Given the description of an element on the screen output the (x, y) to click on. 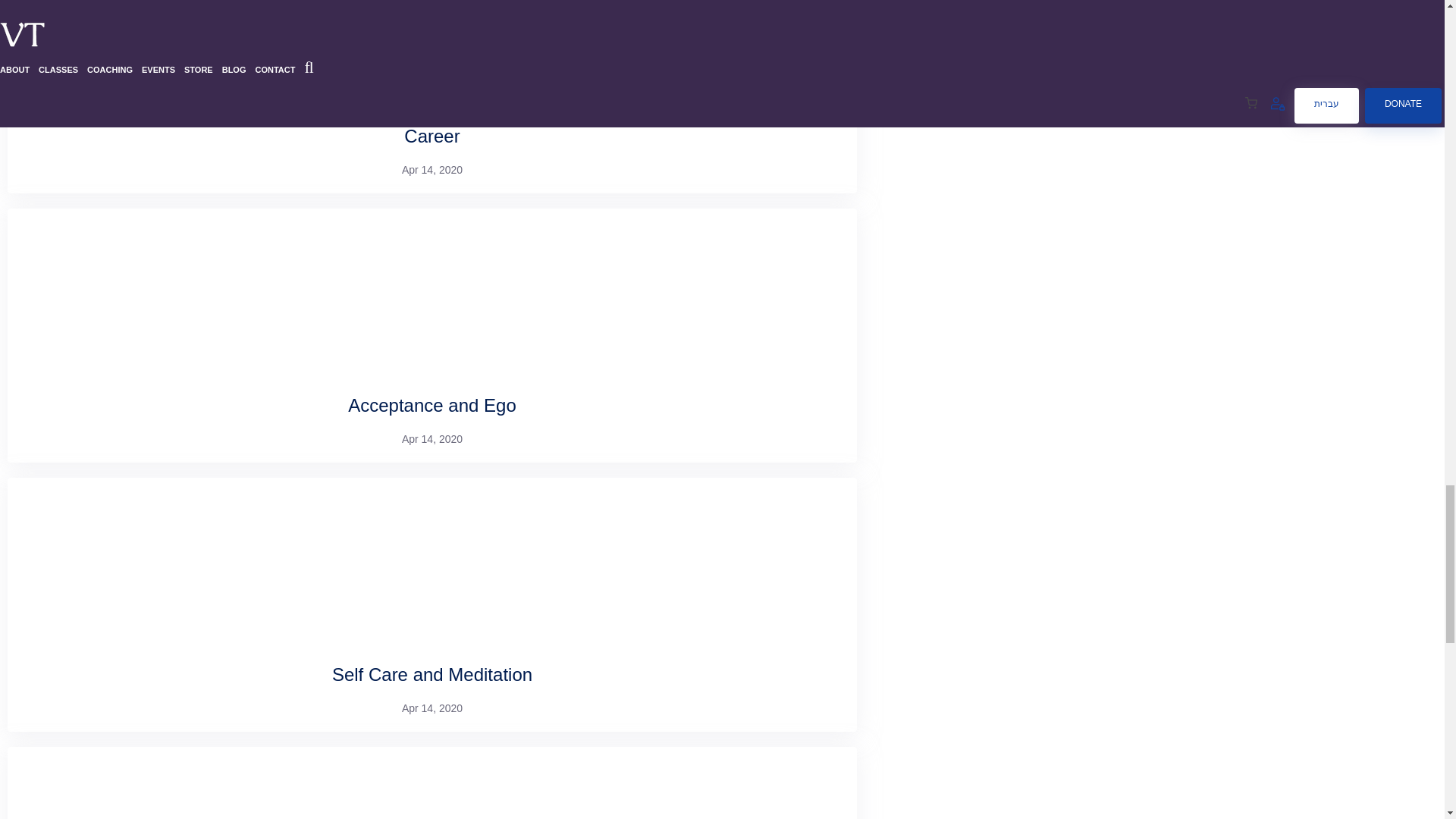
Acceptance and Ego (431, 404)
Self Care and Meditation (431, 674)
Career (432, 136)
